Given the description of an element on the screen output the (x, y) to click on. 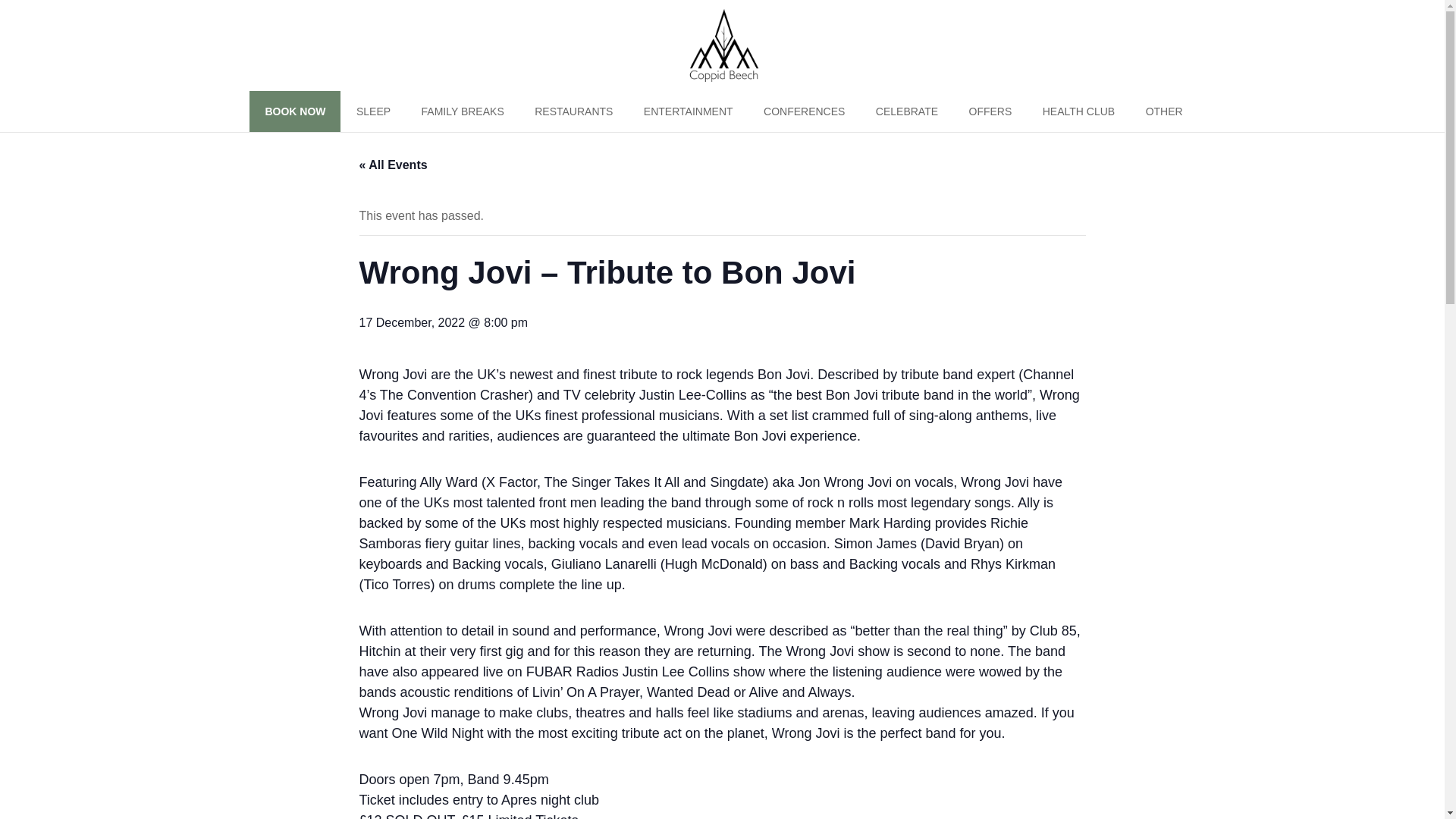
OTHER (1164, 110)
BOOK NOW (294, 110)
SLEEP (373, 110)
OFFERS (990, 110)
CELEBRATE (906, 110)
HEALTH CLUB (1078, 110)
ENTERTAINMENT (688, 110)
RESTAURANTS (573, 110)
FAMILY BREAKS (462, 110)
CONFERENCES (804, 110)
